Given the description of an element on the screen output the (x, y) to click on. 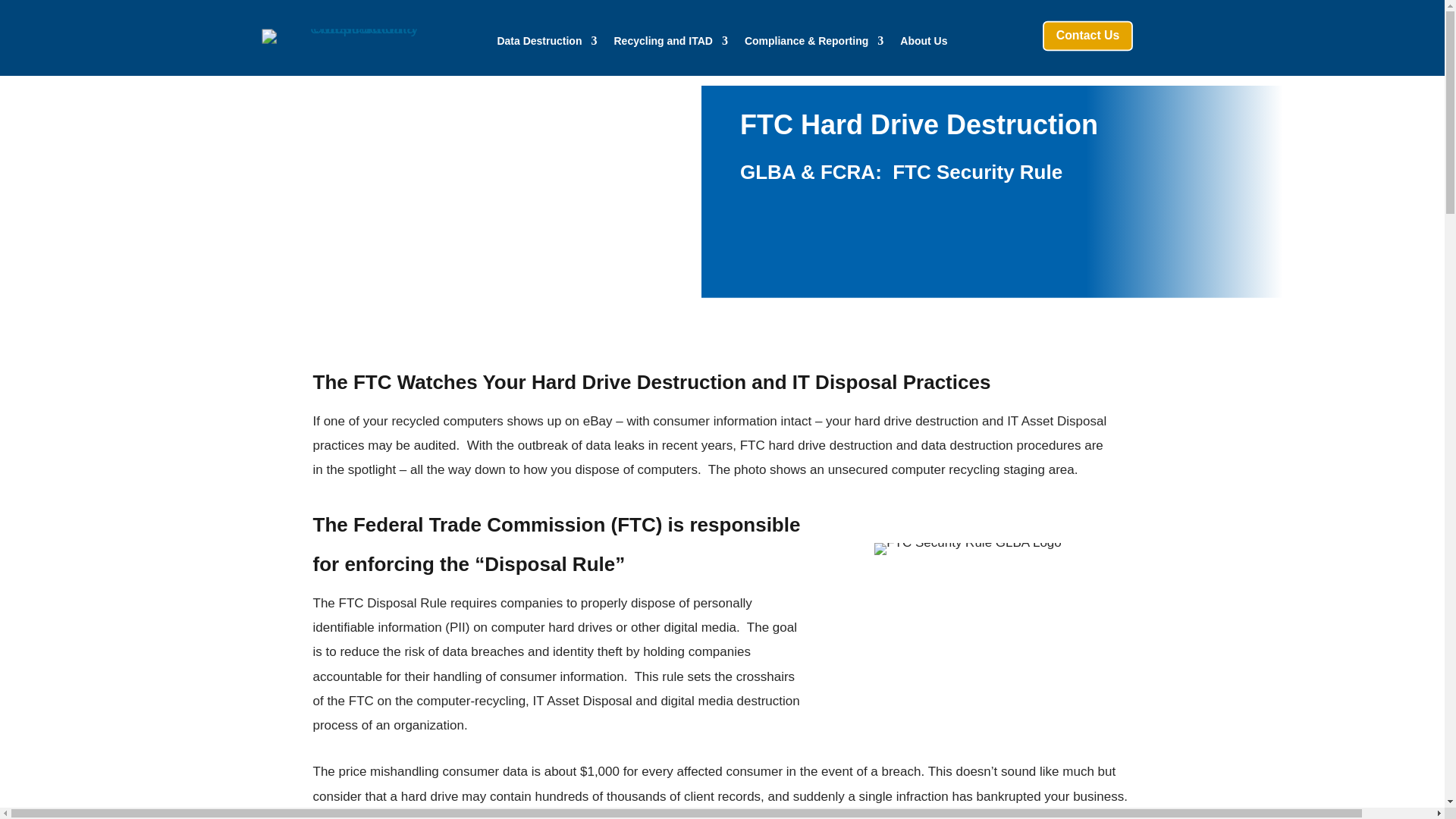
About Us (923, 44)
Lost Business Costs (515, 816)
Contact Us (1093, 38)
Data Destruction (546, 44)
Recycling and ITAD (669, 44)
EWS Logo White Transparent Background R (339, 34)
